Given the description of an element on the screen output the (x, y) to click on. 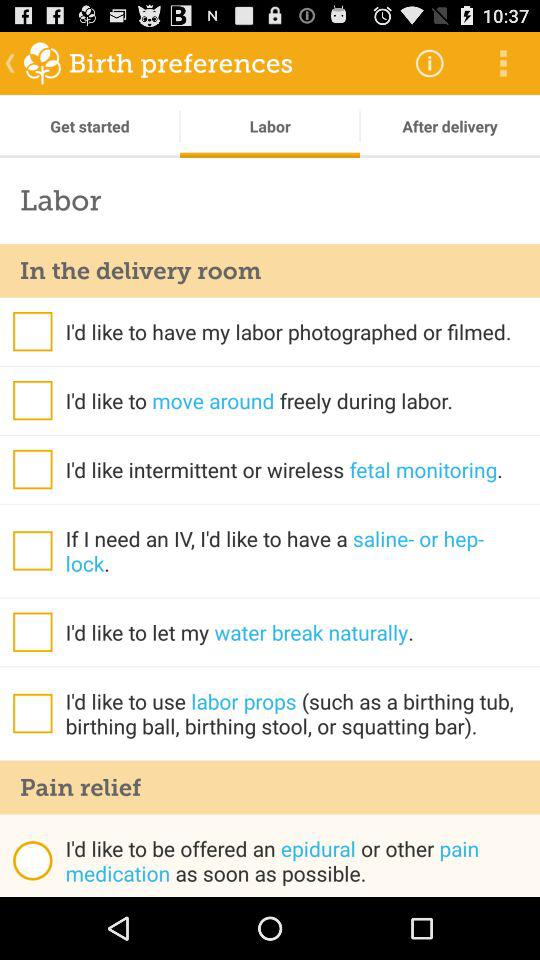
question or help option (32, 550)
